Given the description of an element on the screen output the (x, y) to click on. 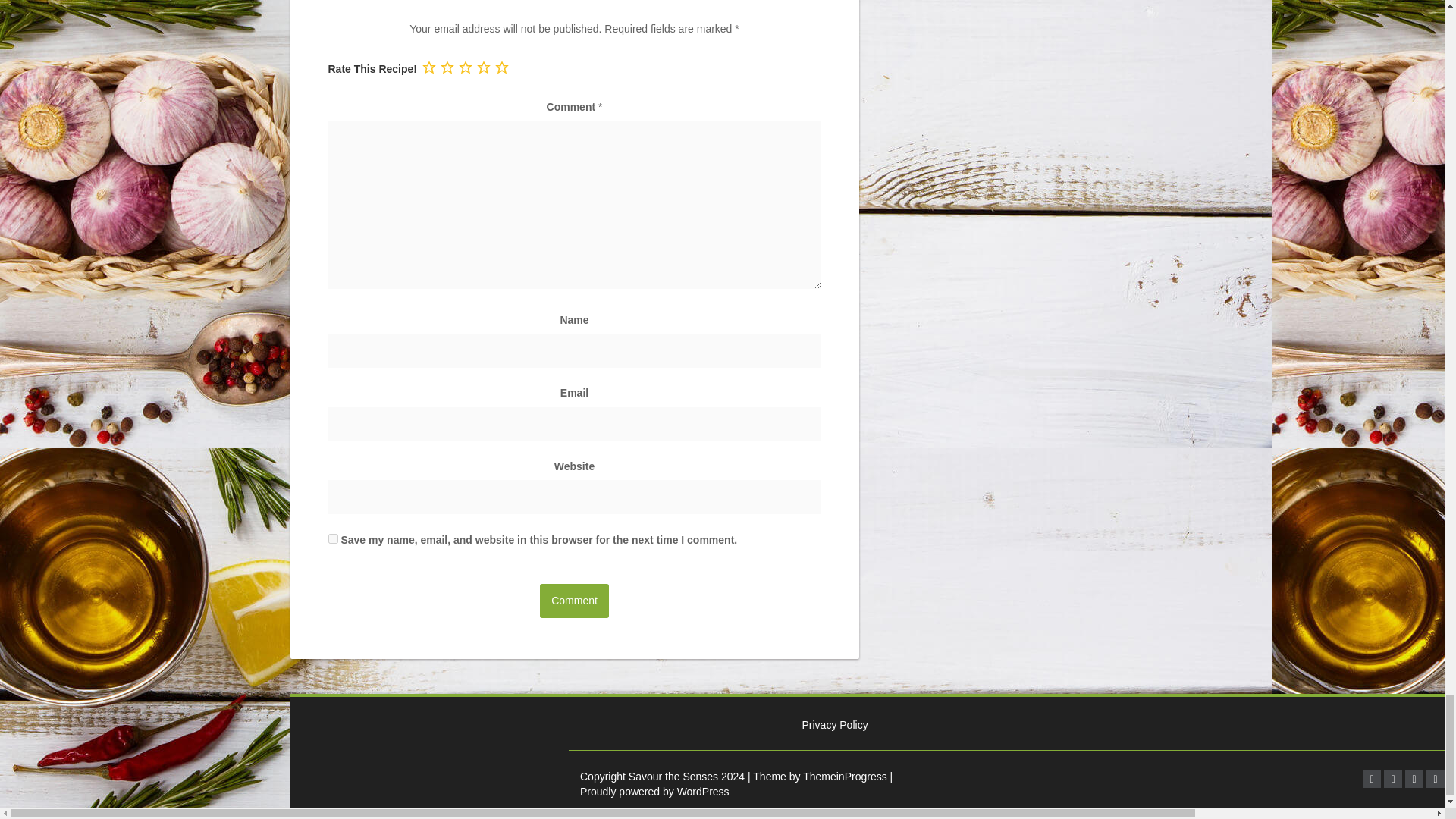
Comment (574, 600)
yes (332, 538)
